Given the description of an element on the screen output the (x, y) to click on. 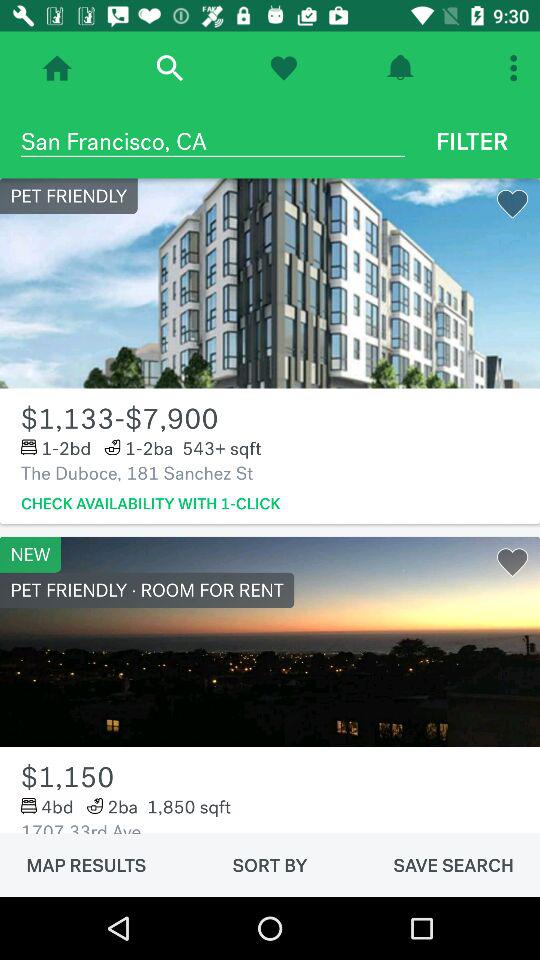
open the item to the left of save search item (269, 865)
